Given the description of an element on the screen output the (x, y) to click on. 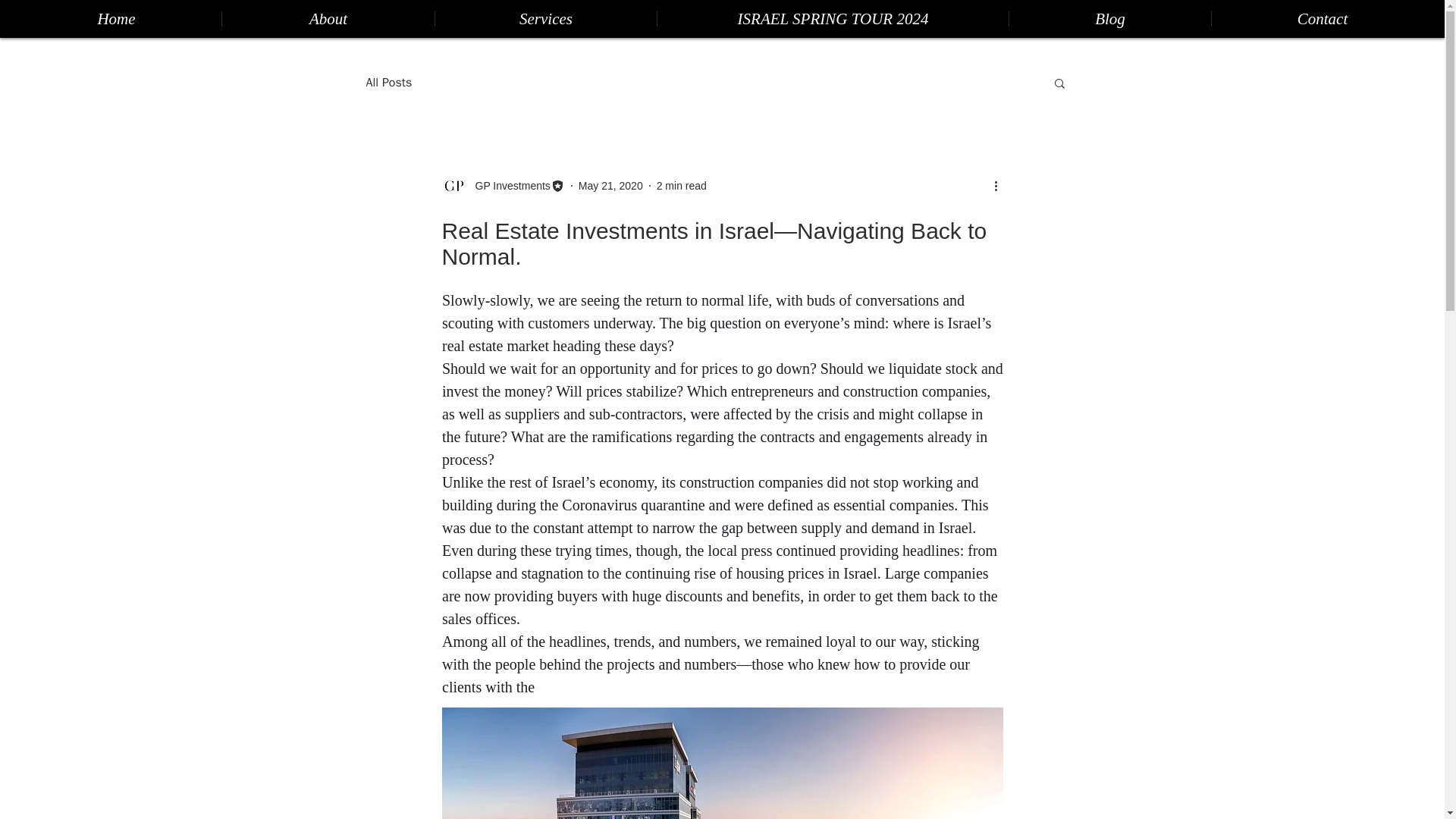
Blog (1110, 18)
Home (116, 18)
GP Investments (502, 185)
GP Investments (507, 185)
Contact (1321, 18)
ISRAEL SPRING TOUR 2024 (832, 18)
May 21, 2020 (610, 184)
Services (544, 18)
2 min read (681, 184)
About (327, 18)
All Posts (388, 82)
